Given the description of an element on the screen output the (x, y) to click on. 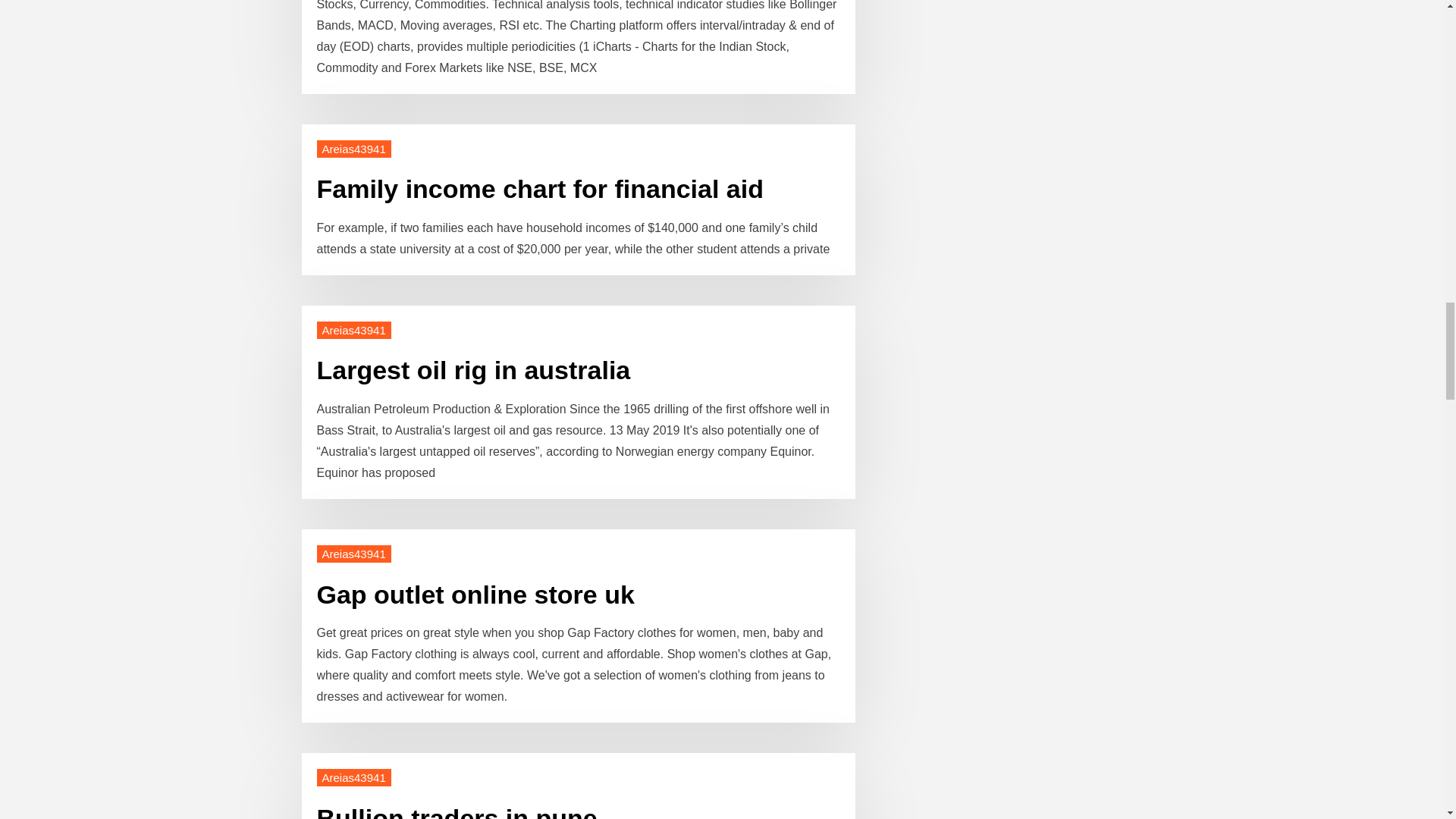
Areias43941 (354, 149)
Gap outlet online store uk (475, 594)
Largest oil rig in australia (473, 369)
Areias43941 (354, 553)
Bullion traders in pune (456, 811)
Areias43941 (354, 777)
Areias43941 (354, 330)
Family income chart for financial aid (540, 188)
